Given the description of an element on the screen output the (x, y) to click on. 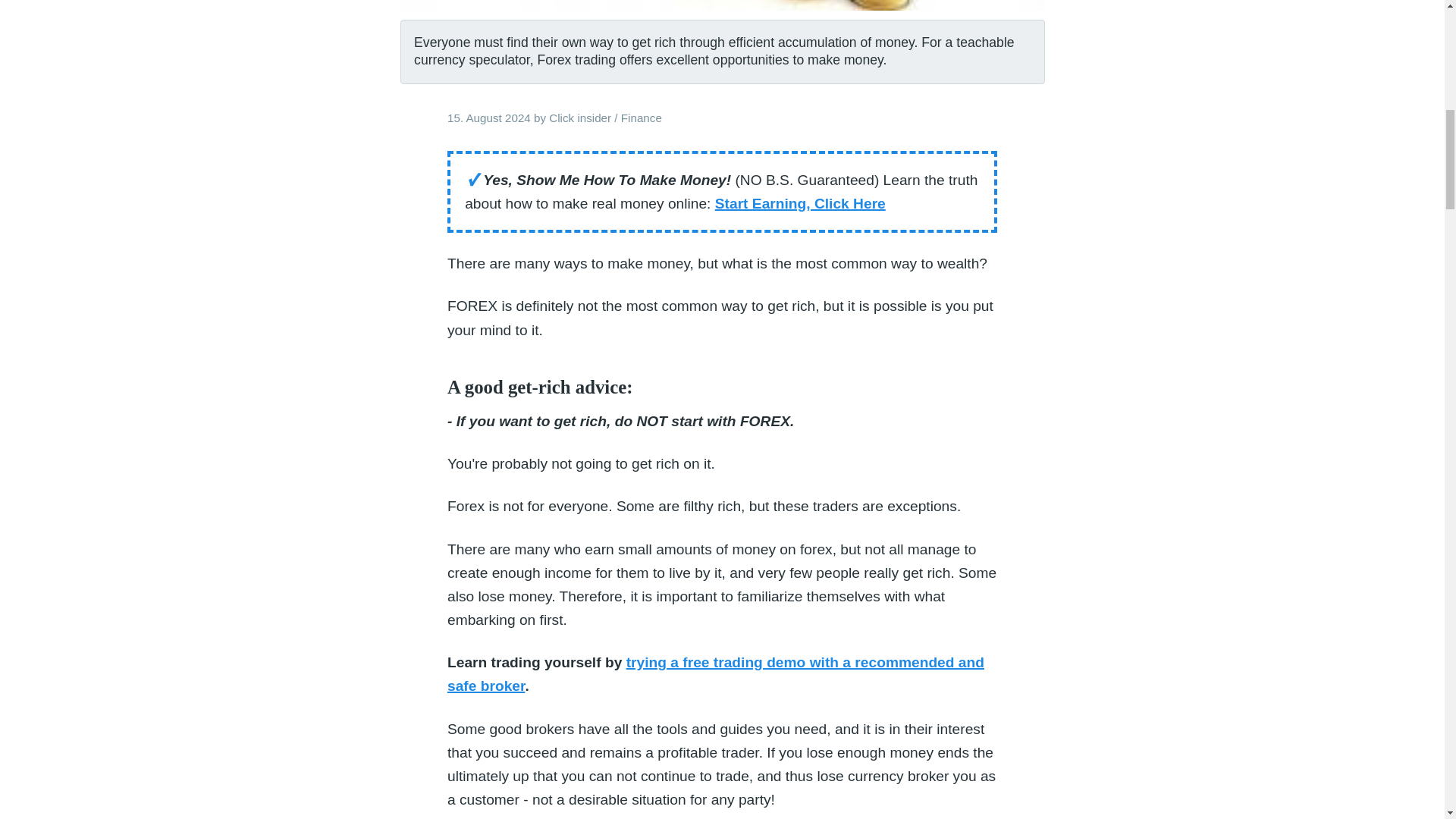
Finance (641, 117)
Start Earning, Click Here (799, 203)
Click insider (579, 117)
